Given the description of an element on the screen output the (x, y) to click on. 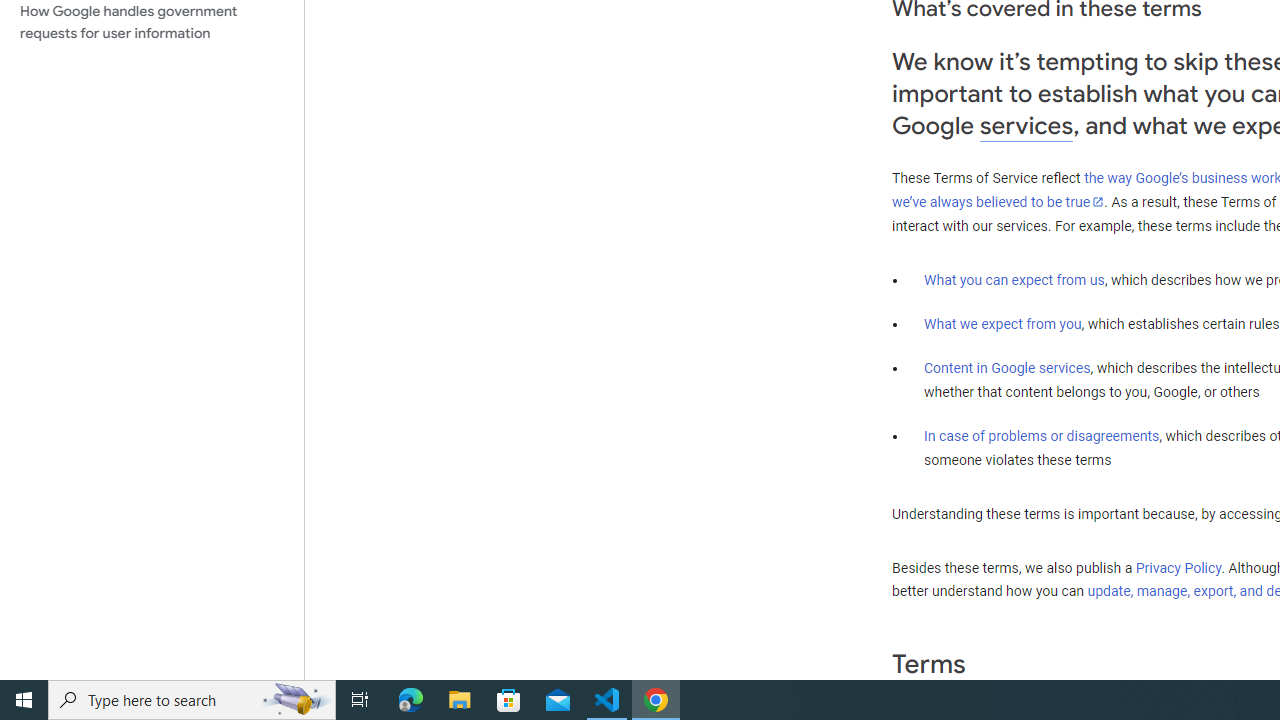
In case of problems or disagreements (1041, 435)
What you can expect from us (1014, 279)
services (1026, 125)
Content in Google services (1007, 368)
What we expect from you (1002, 323)
